Given the description of an element on the screen output the (x, y) to click on. 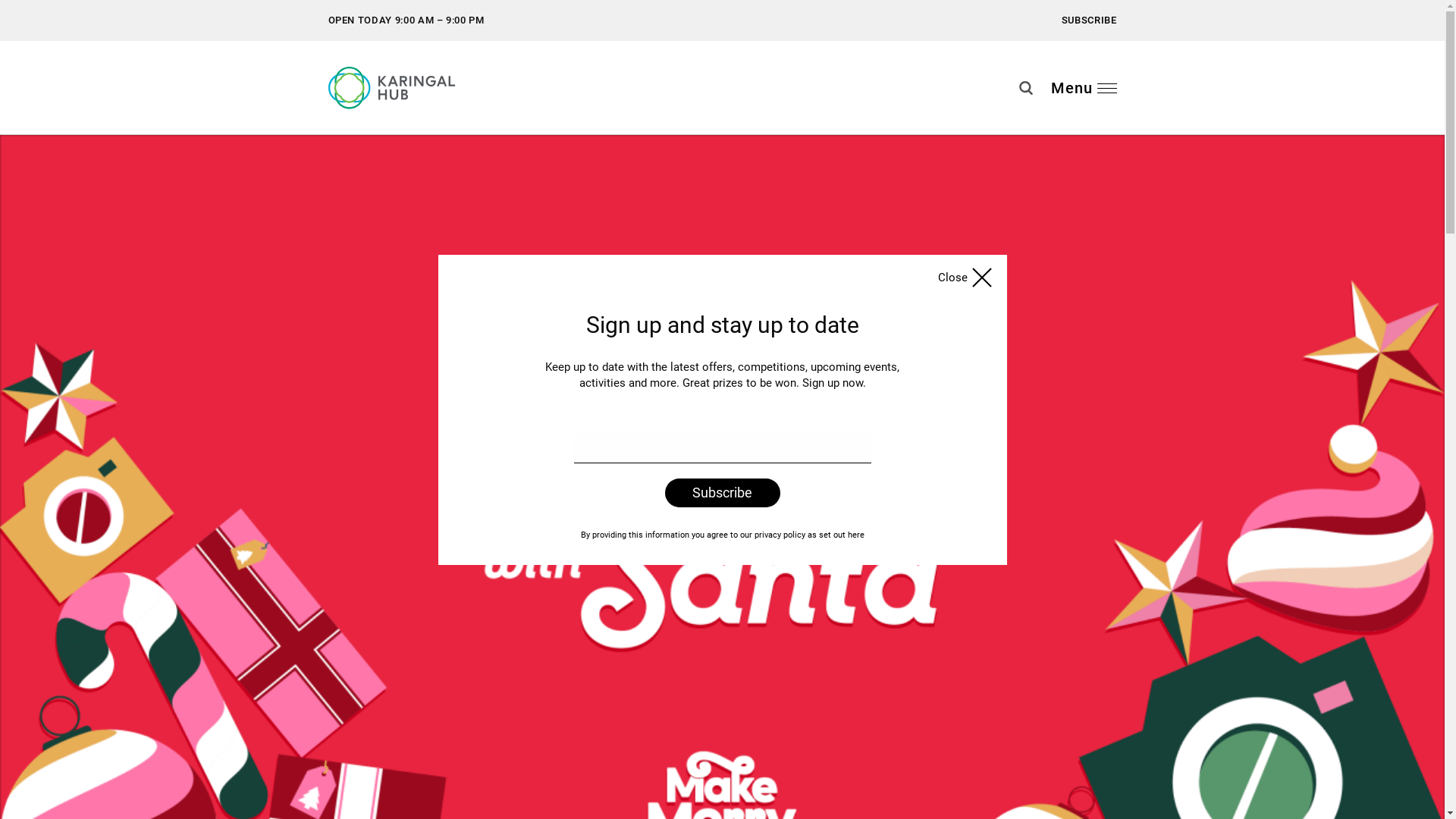
Close Element type: text (965, 277)
Submit Element type: text (1421, 115)
Karingal Hub Element type: hover (403, 87)
Subscribe Element type: text (1055, 58)
SUBSCRIBE Element type: text (1089, 20)
Subscribe Element type: text (721, 491)
Menu Element type: text (1084, 87)
Next Element type: text (61, 144)
Previous Element type: text (23, 144)
